Given the description of an element on the screen output the (x, y) to click on. 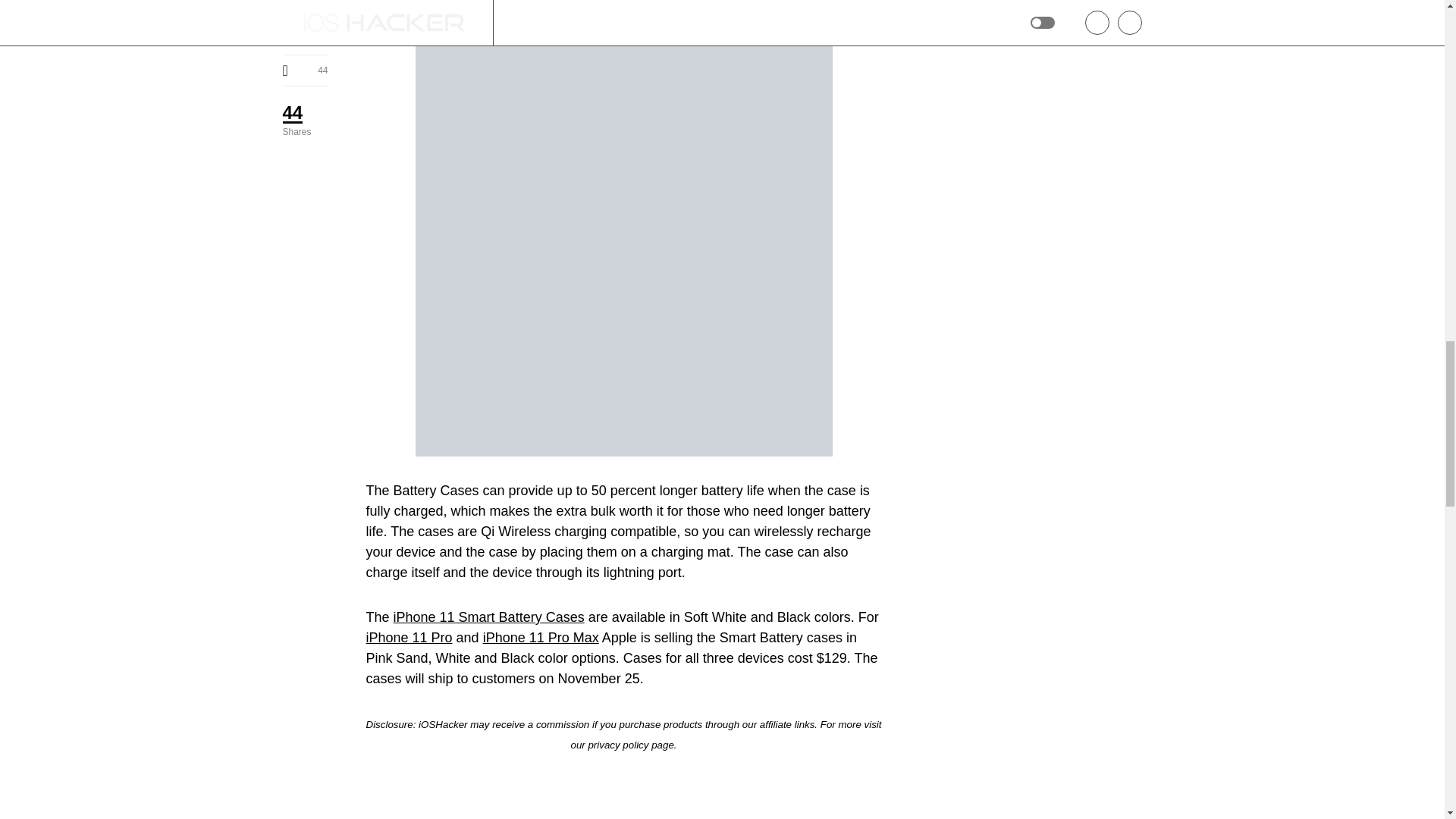
YouTube video player (623, 786)
